Given the description of an element on the screen output the (x, y) to click on. 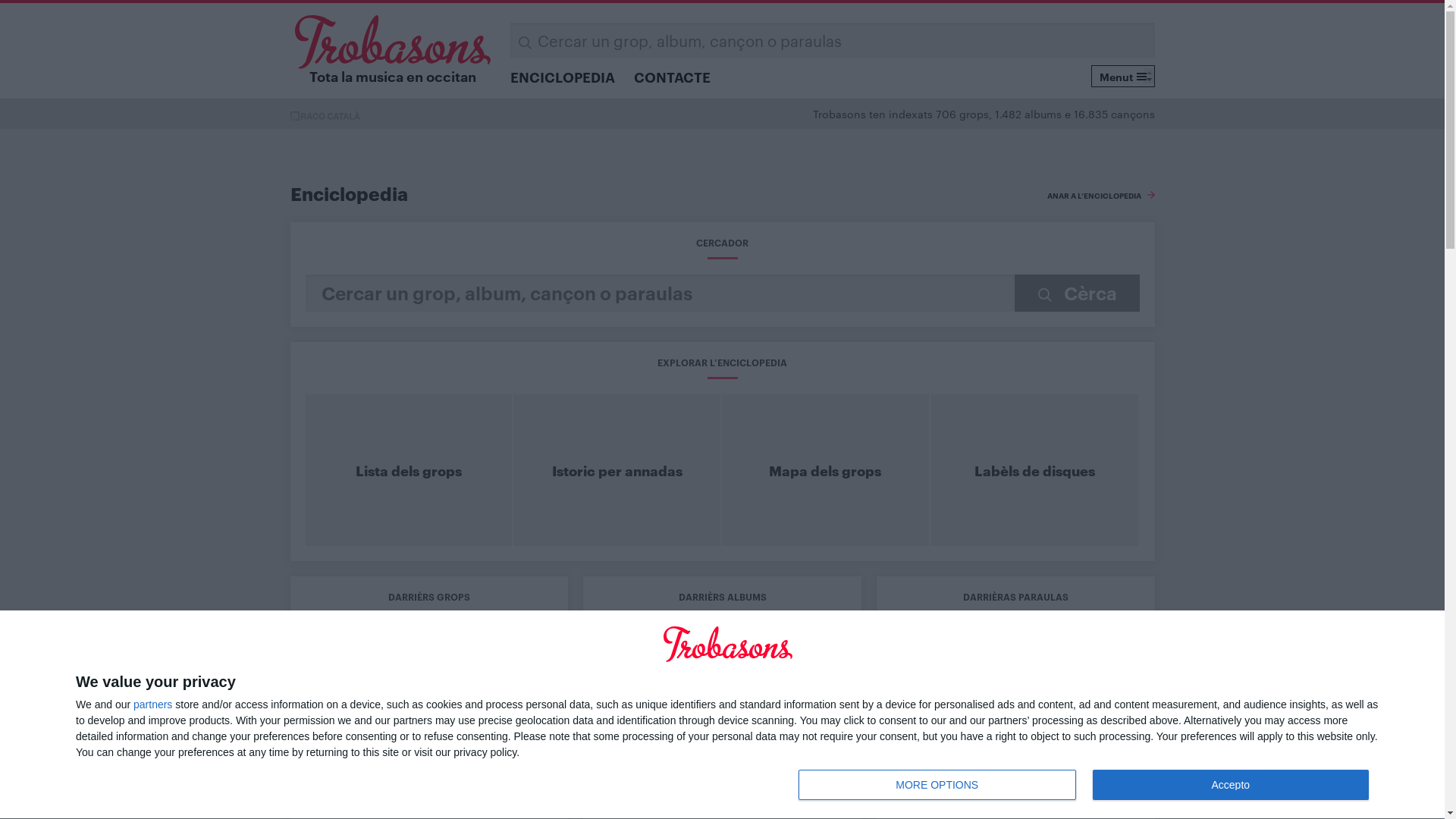
La meison
La Meison
Lou Dalfin Element type: text (1015, 651)
Mireia Latorre Element type: text (428, 714)
Manda-nos un grop Element type: text (855, 685)
Manda-nos un album Element type: text (859, 700)
La Vesina Element type: text (428, 651)
Menut Element type: text (1122, 76)
Lis uelhs verds Element type: text (428, 777)
Accepto Element type: text (1230, 784)
Manda-nos de paraulas Element type: text (865, 715)
Inscripcion Element type: text (1095, 436)
MORE OPTIONS Element type: text (937, 784)
Twitter Element type: hover (590, 423)
Facebook Element type: hover (616, 423)
Configuracion de la privacitat Element type: text (1047, 792)
CONTACTE Element type: text (671, 76)
Enciclopedia Element type: text (618, 654)
Memory de fichas Element type: text (851, 654)
Imatge grafic Element type: text (1059, 654)
Enciclopedia Element type: text (348, 192)
Lista dels grops Element type: text (407, 470)
Manhin
La Meison
Lou Dalfin Element type: text (1015, 714)
ENCICLOPEDIA Element type: text (562, 76)
Mapa dels grops Element type: text (824, 470)
Tota la musica en occitan Element type: text (392, 48)
Contacte Element type: text (901, 792)
Istoric per annadas Element type: text (616, 470)
La Meison
Lou Dalfin Element type: text (722, 777)
partners Element type: text (152, 704)
L'ostal de Bart
La Meison
Lou Dalfin Element type: text (1015, 777)
